Given the description of an element on the screen output the (x, y) to click on. 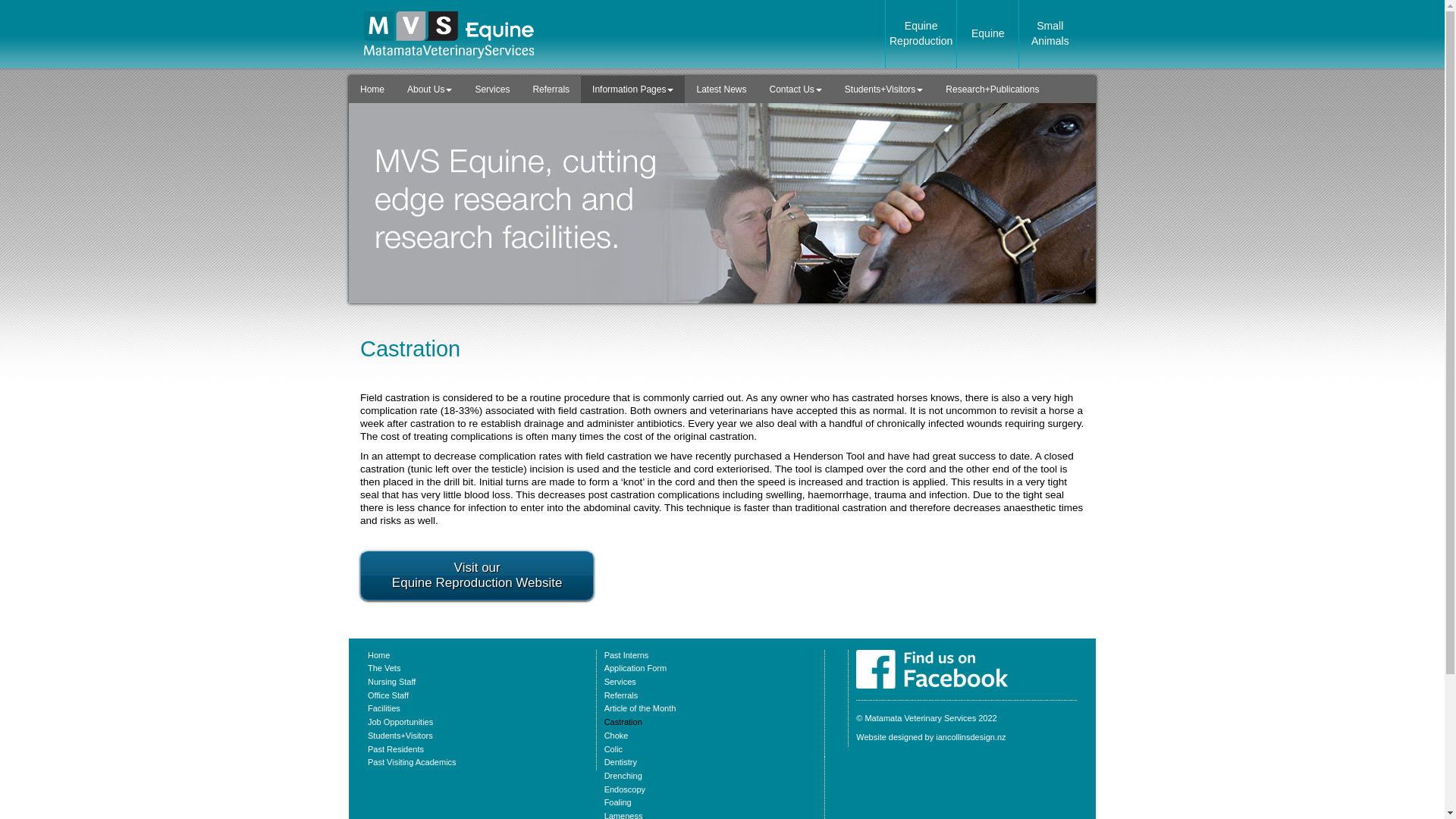
Latest News (720, 89)
Equine (986, 33)
About Us (429, 89)
Information Pages (632, 89)
Referrals (550, 89)
Equine Reproduction (920, 33)
Ian Collins Design (931, 737)
MVS Equine (931, 656)
Small Animals (1049, 33)
Home (372, 89)
Services (492, 89)
Contact Us (795, 89)
